Given the description of an element on the screen output the (x, y) to click on. 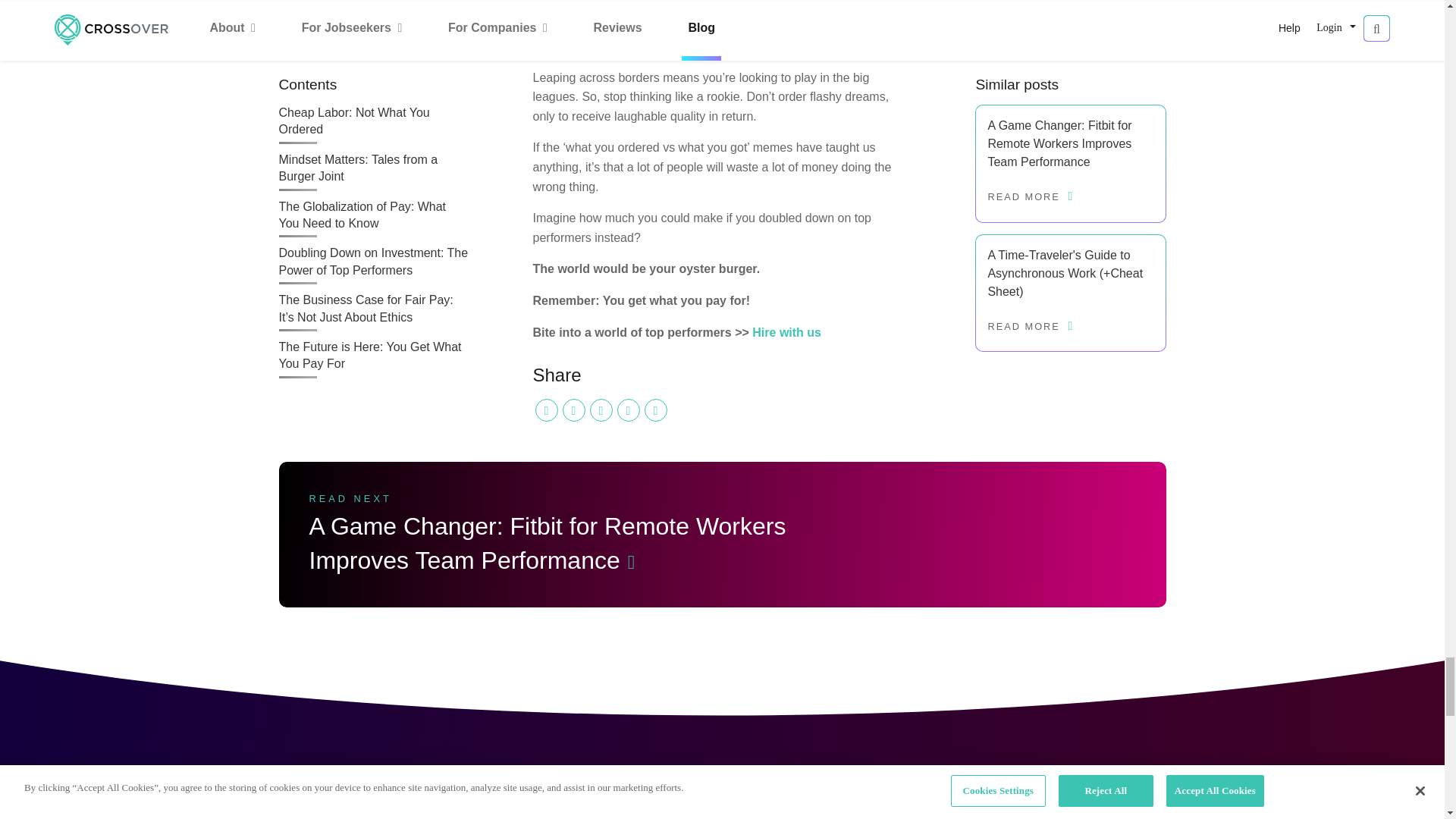
Share on Facebook (573, 409)
